Given the description of an element on the screen output the (x, y) to click on. 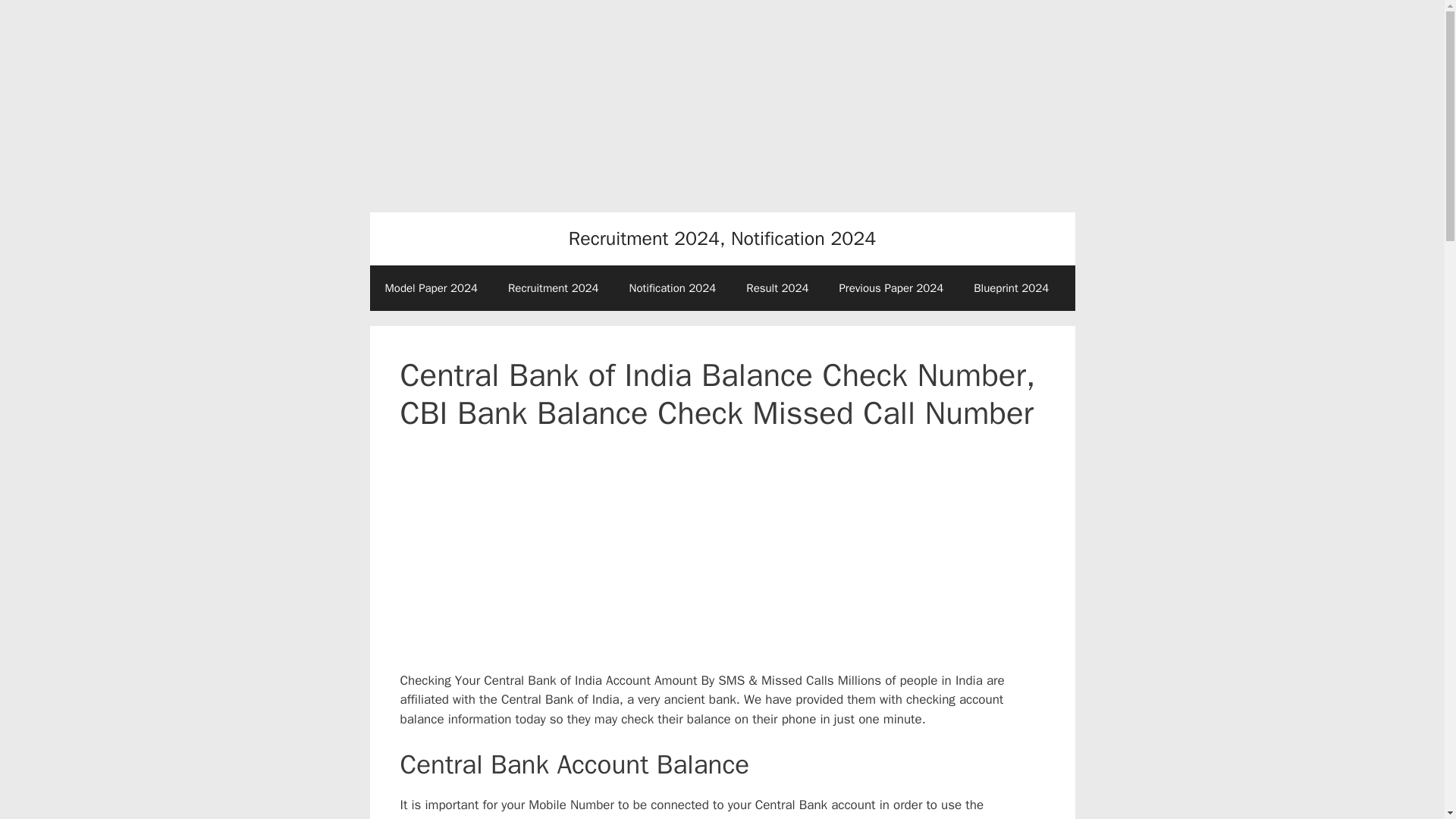
Recruitment 2024 (553, 288)
Previous Paper 2024 (891, 288)
Notification 2024 (673, 288)
Result 2024 (777, 288)
Recruitment 2024, Notification 2024 (722, 238)
Model Paper 2024 (431, 288)
Blueprint 2024 (1011, 288)
